Given the description of an element on the screen output the (x, y) to click on. 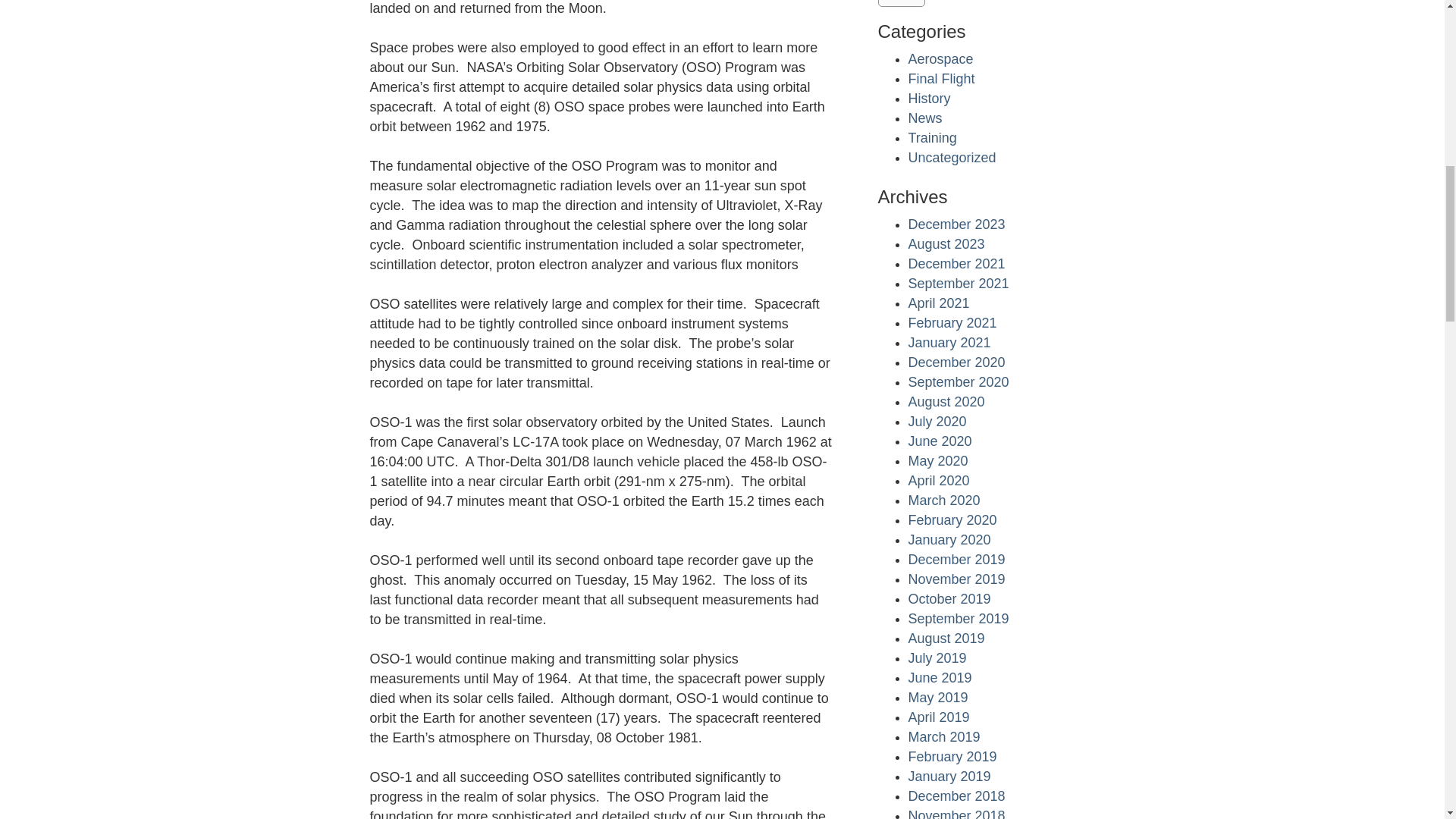
Search (901, 3)
News (925, 118)
Uncategorized (951, 157)
Training (932, 137)
History (929, 98)
December 2023 (957, 224)
Final Flight (941, 78)
Search (901, 3)
Search (901, 3)
Aerospace (941, 58)
August 2023 (946, 243)
